Given the description of an element on the screen output the (x, y) to click on. 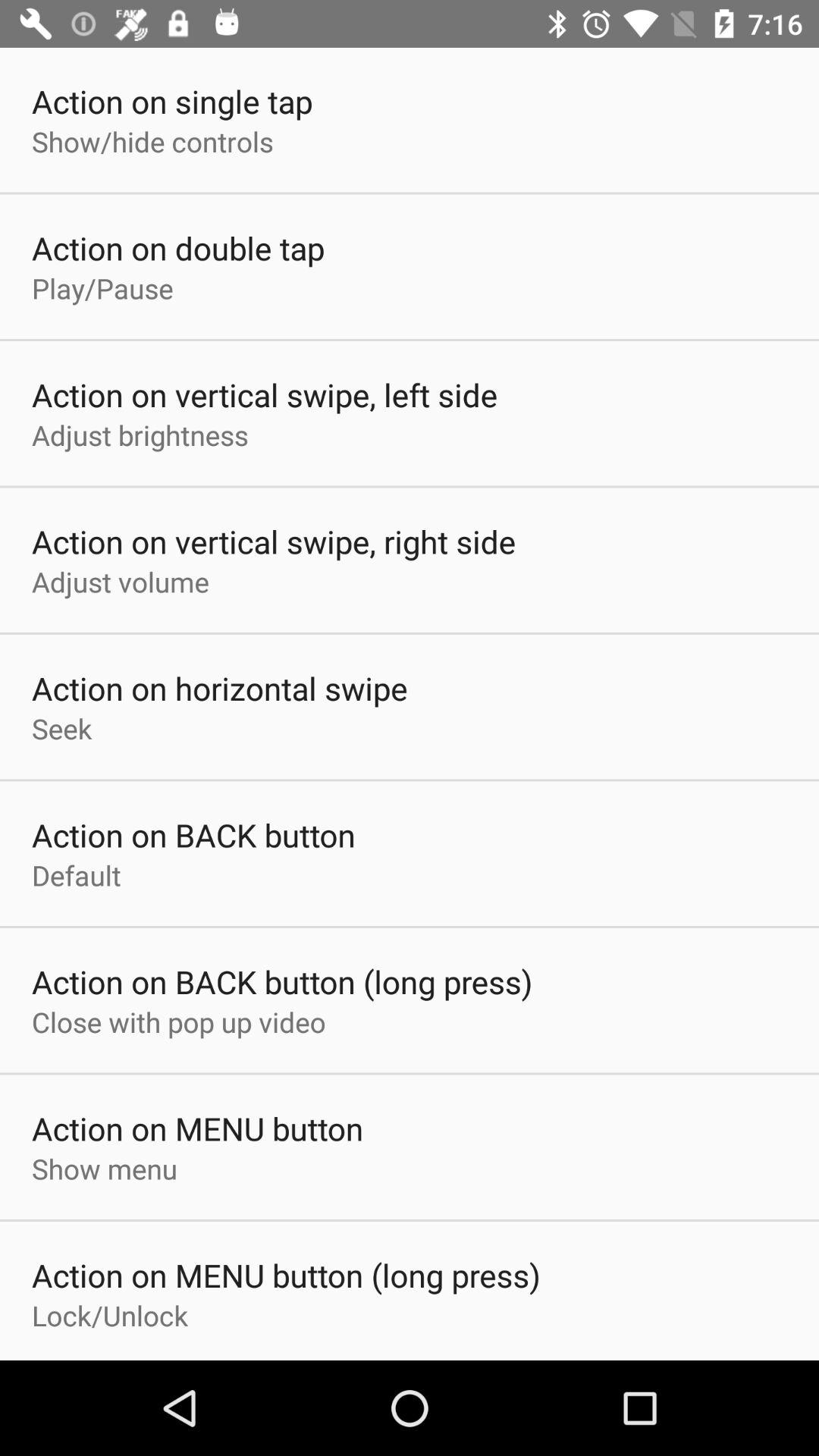
turn on the app above action on vertical item (139, 434)
